Given the description of an element on the screen output the (x, y) to click on. 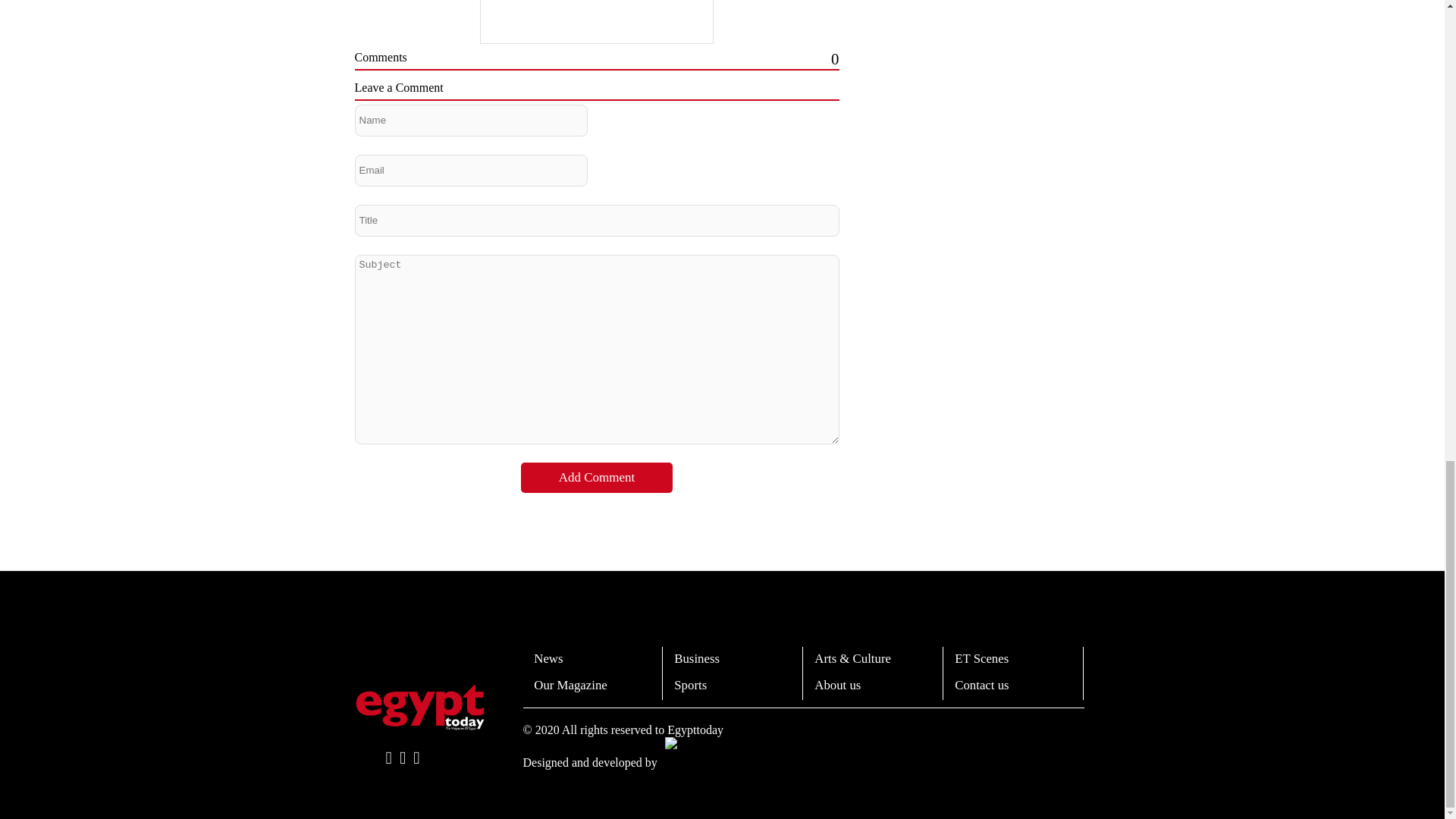
EgyptToday (419, 707)
Add Comment (596, 477)
